Given the description of an element on the screen output the (x, y) to click on. 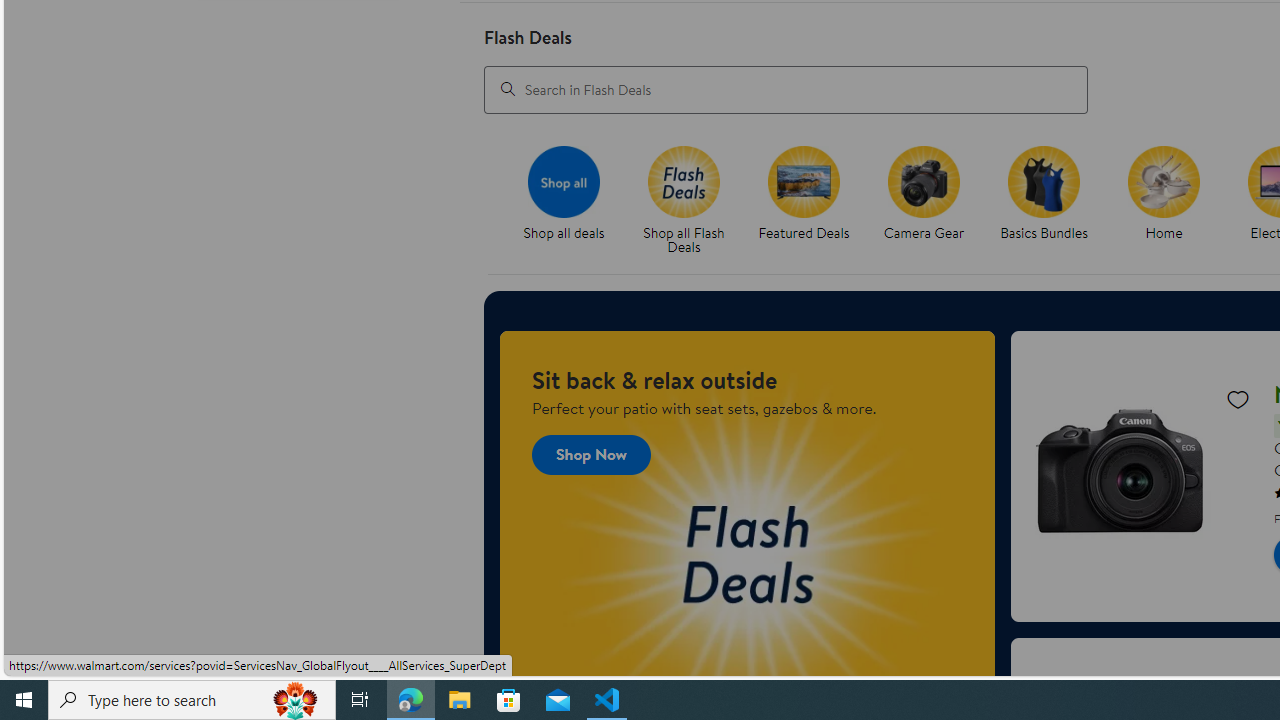
Featured Deals (803, 181)
Featured Deals (811, 200)
Basics Bundles (1052, 200)
Shop all Flash Deals (692, 200)
Flash Deals Shop all Flash Deals (684, 200)
